Given the description of an element on the screen output the (x, y) to click on. 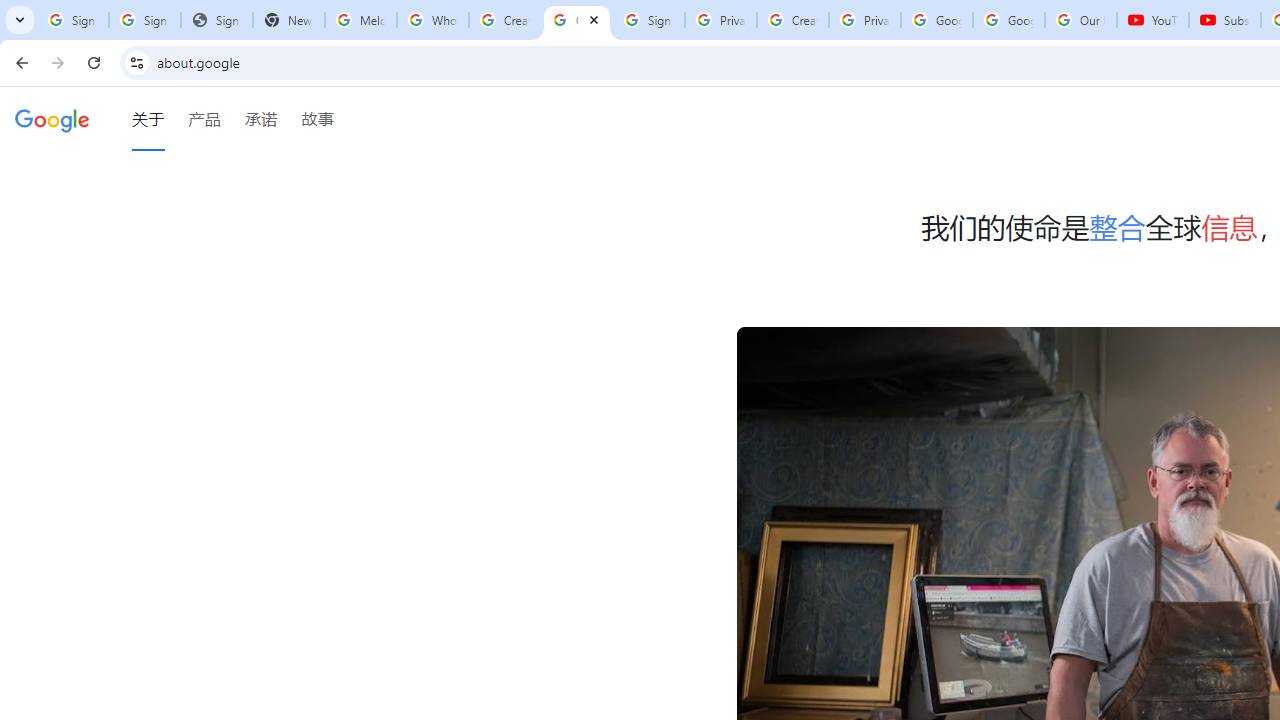
Subscriptions - YouTube (1224, 20)
YouTube (1153, 20)
Sign in - Google Accounts (144, 20)
Sign in - Google Accounts (648, 20)
